Given the description of an element on the screen output the (x, y) to click on. 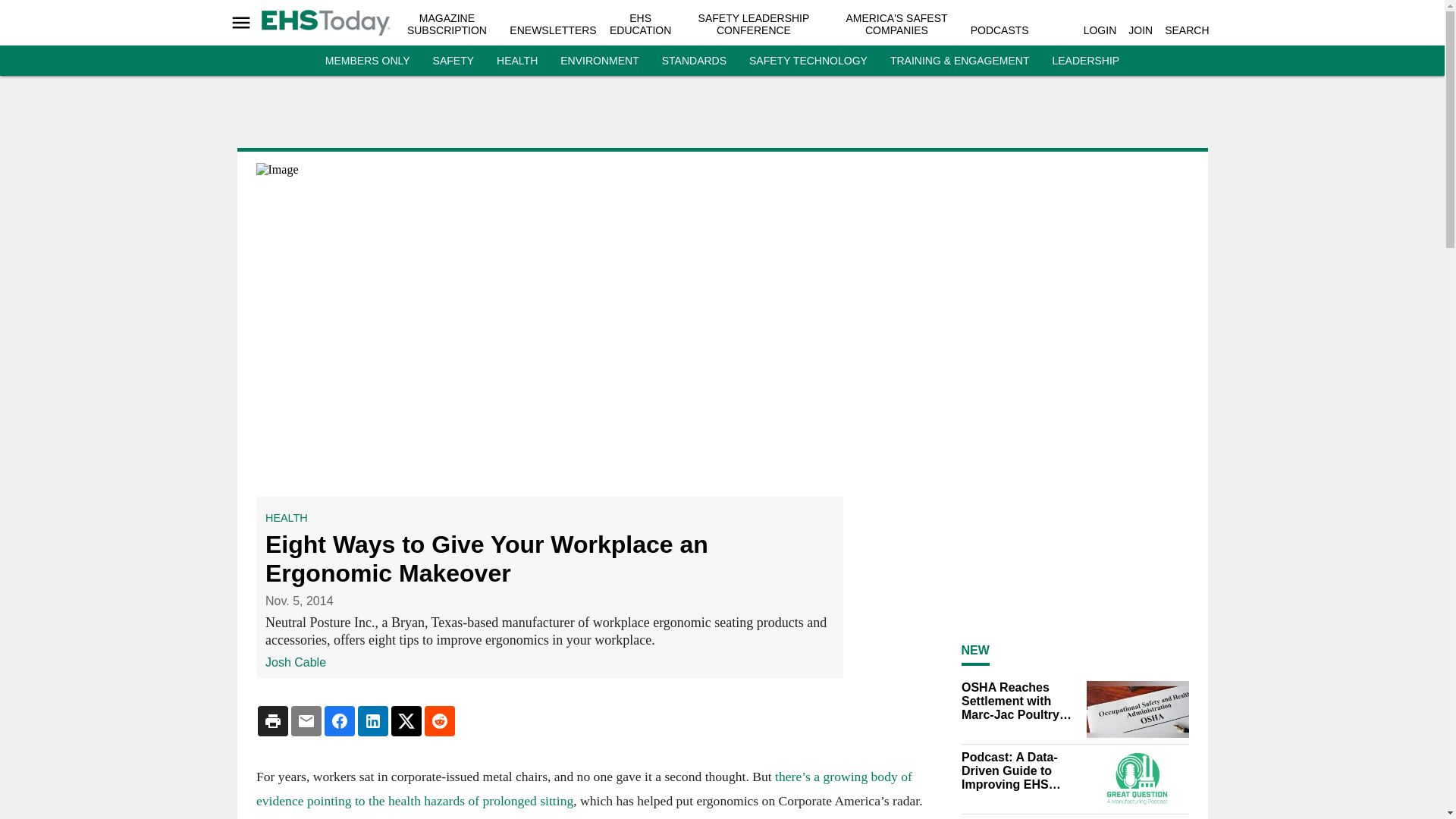
MEMBERS ONLY (367, 60)
LOGIN (1099, 30)
ENVIRONMENT (599, 60)
LEADERSHIP (1085, 60)
PODCASTS (1000, 30)
JOIN (1140, 30)
SAFETY LEADERSHIP CONFERENCE (753, 24)
ENEWSLETTERS (552, 30)
SEARCH (1186, 30)
HEALTH (516, 60)
